Given the description of an element on the screen output the (x, y) to click on. 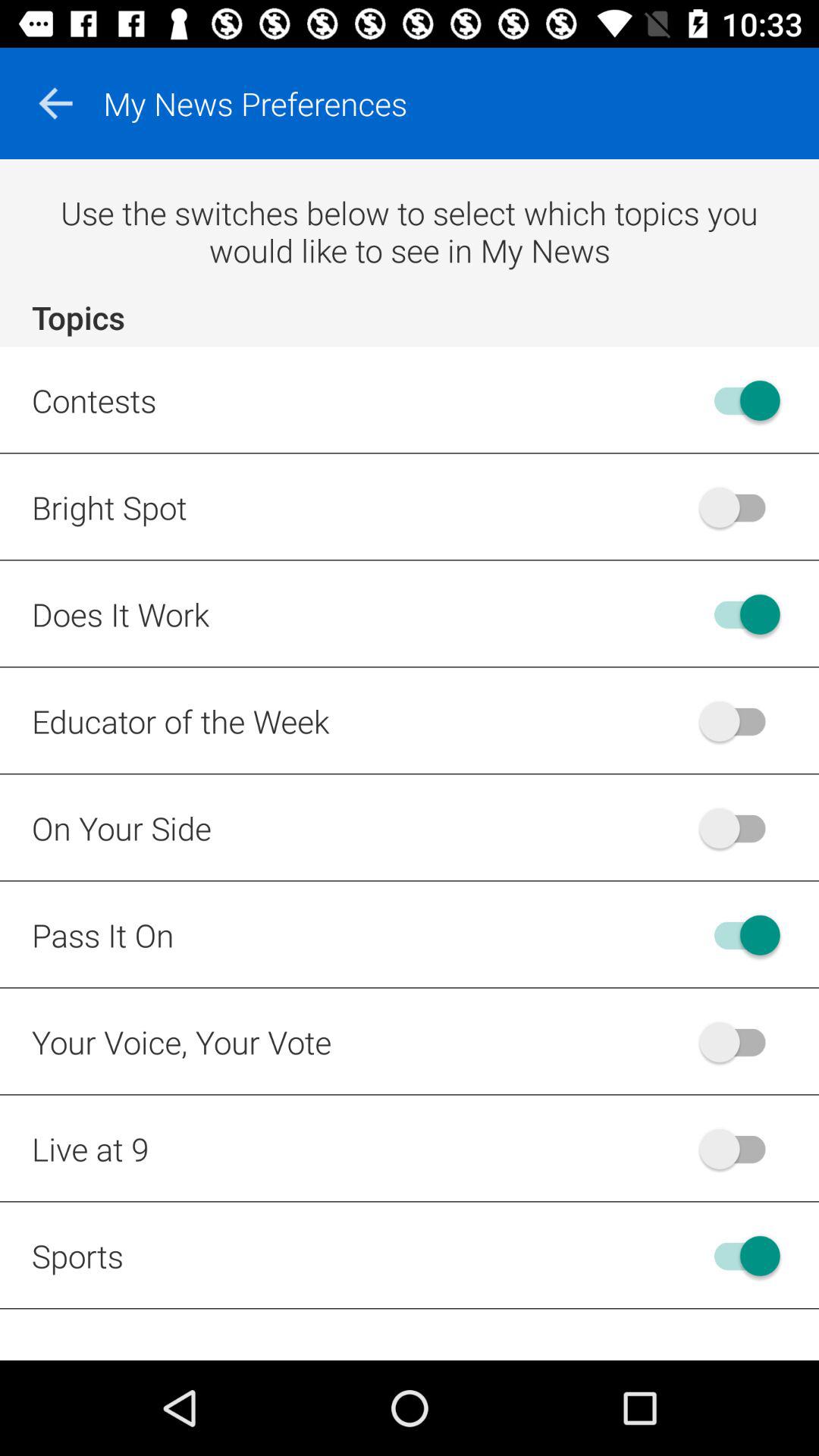
toggle live at 9 option (739, 1148)
